Given the description of an element on the screen output the (x, y) to click on. 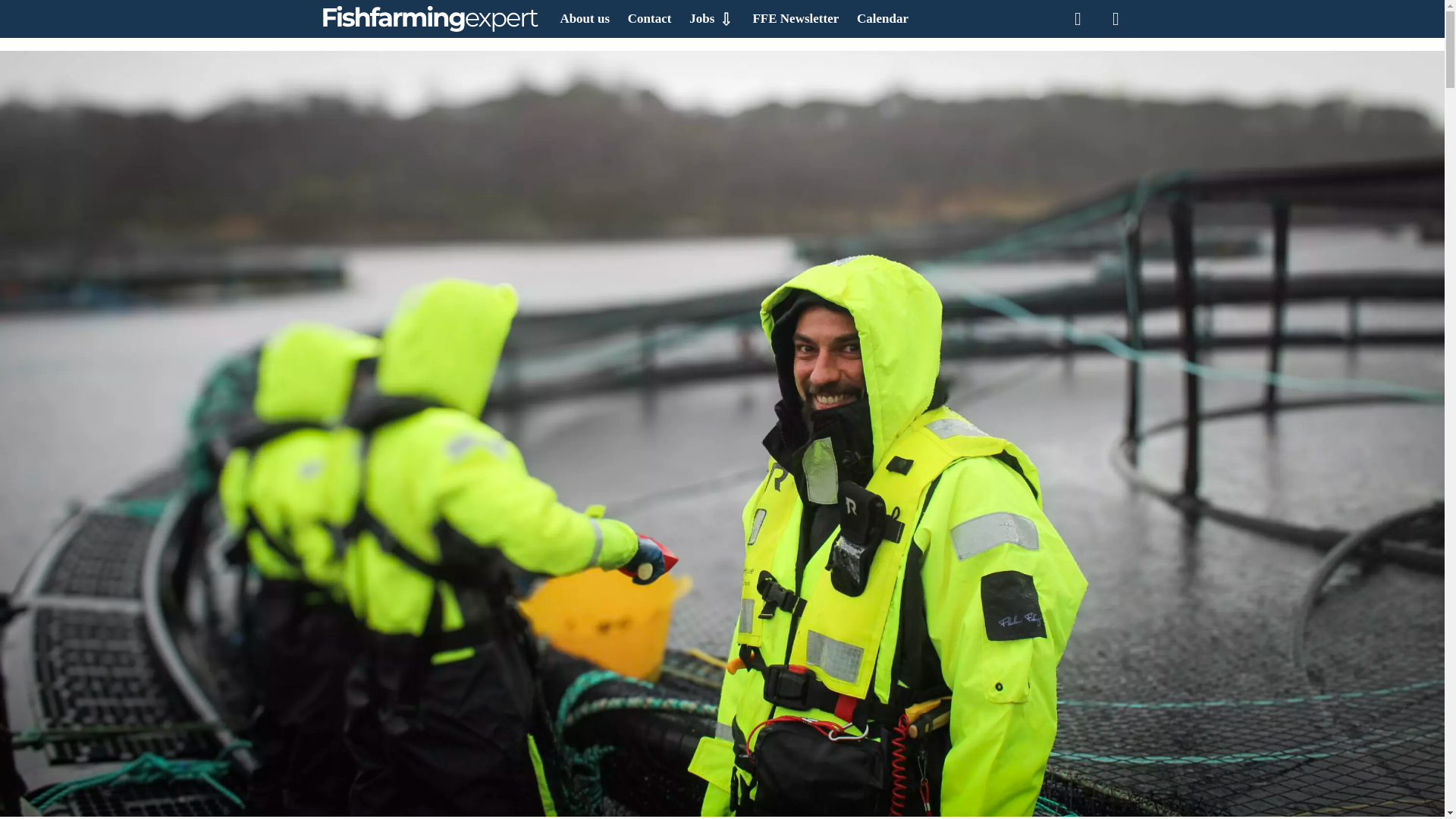
Calendar (882, 18)
FFE Newsletter (795, 18)
About us (584, 18)
Contact (649, 18)
